Given the description of an element on the screen output the (x, y) to click on. 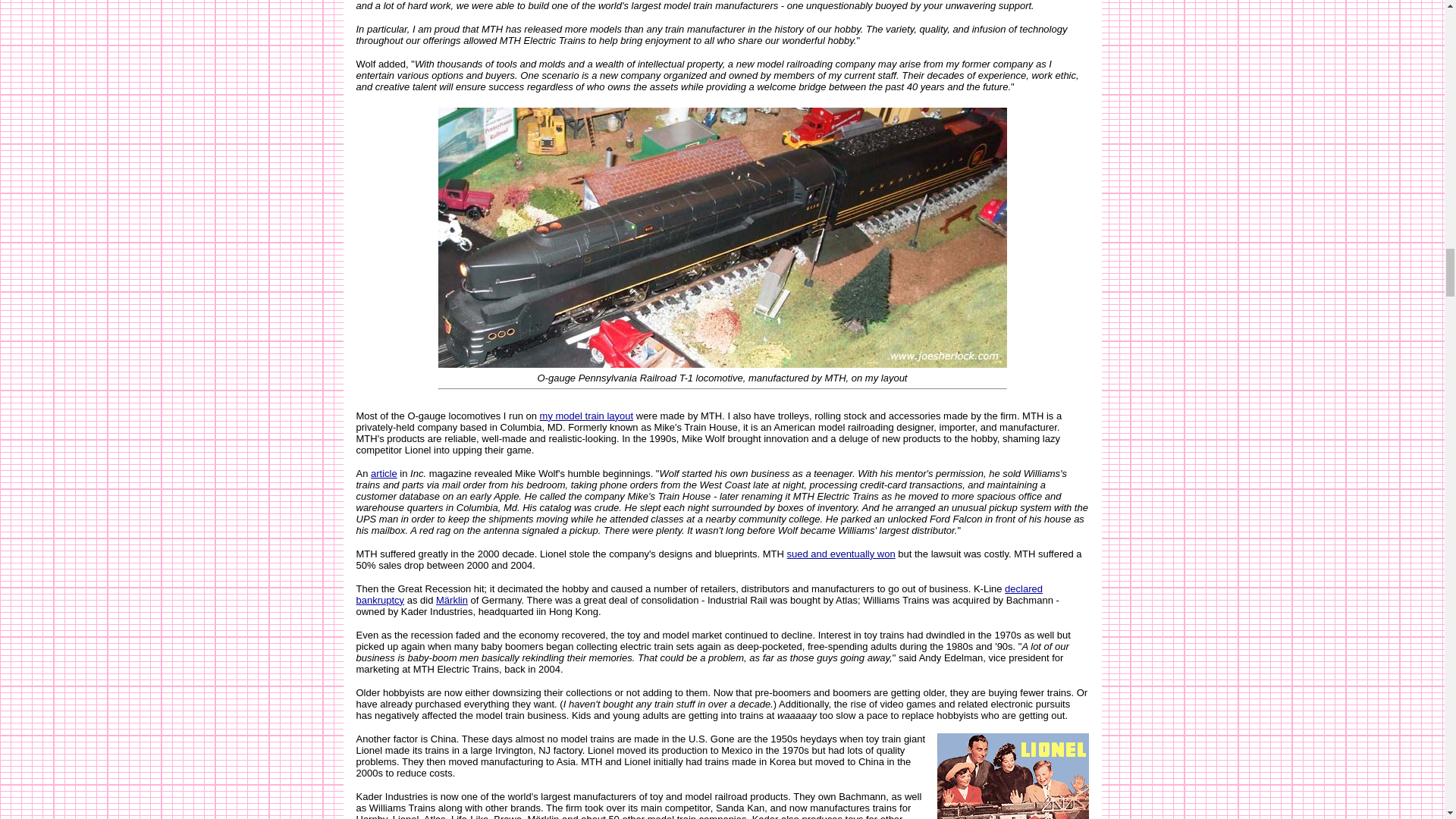
my model train layout (586, 414)
declared bankruptcy (699, 593)
sued and eventually won (841, 552)
article (384, 472)
